Given the description of an element on the screen output the (x, y) to click on. 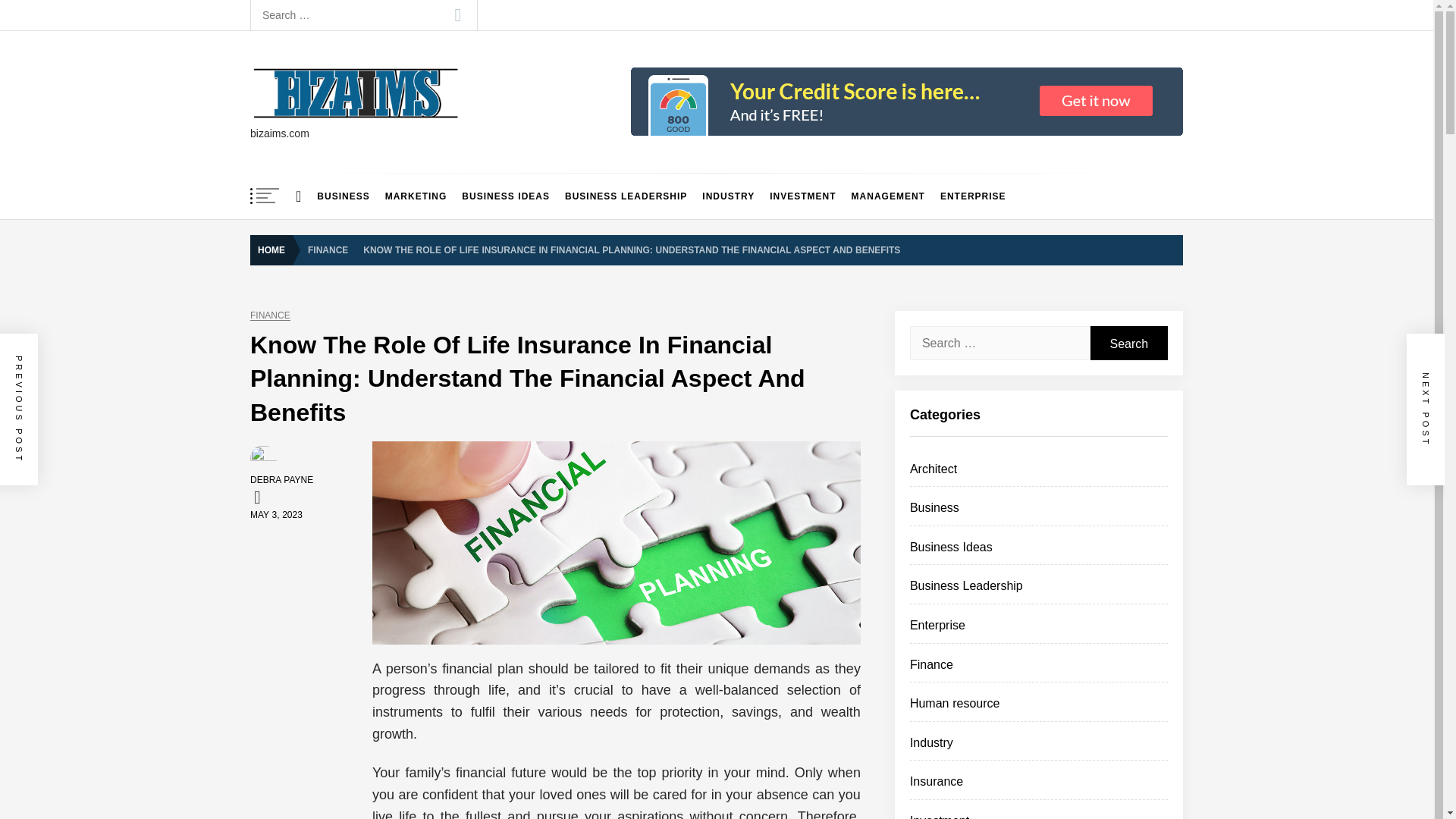
Insurance (936, 780)
BUSINESS (342, 196)
FINANCE (327, 248)
Industry (931, 742)
bizaims.com (327, 140)
Header Advertise (906, 101)
MANAGEMENT (888, 196)
Business Leadership (966, 585)
Search (1128, 342)
Business (934, 507)
BUSINESS IDEAS (505, 196)
BUSINESS LEADERSHIP (625, 196)
ENTERPRISE (973, 196)
Search (1128, 342)
Business Ideas (951, 546)
